Given the description of an element on the screen output the (x, y) to click on. 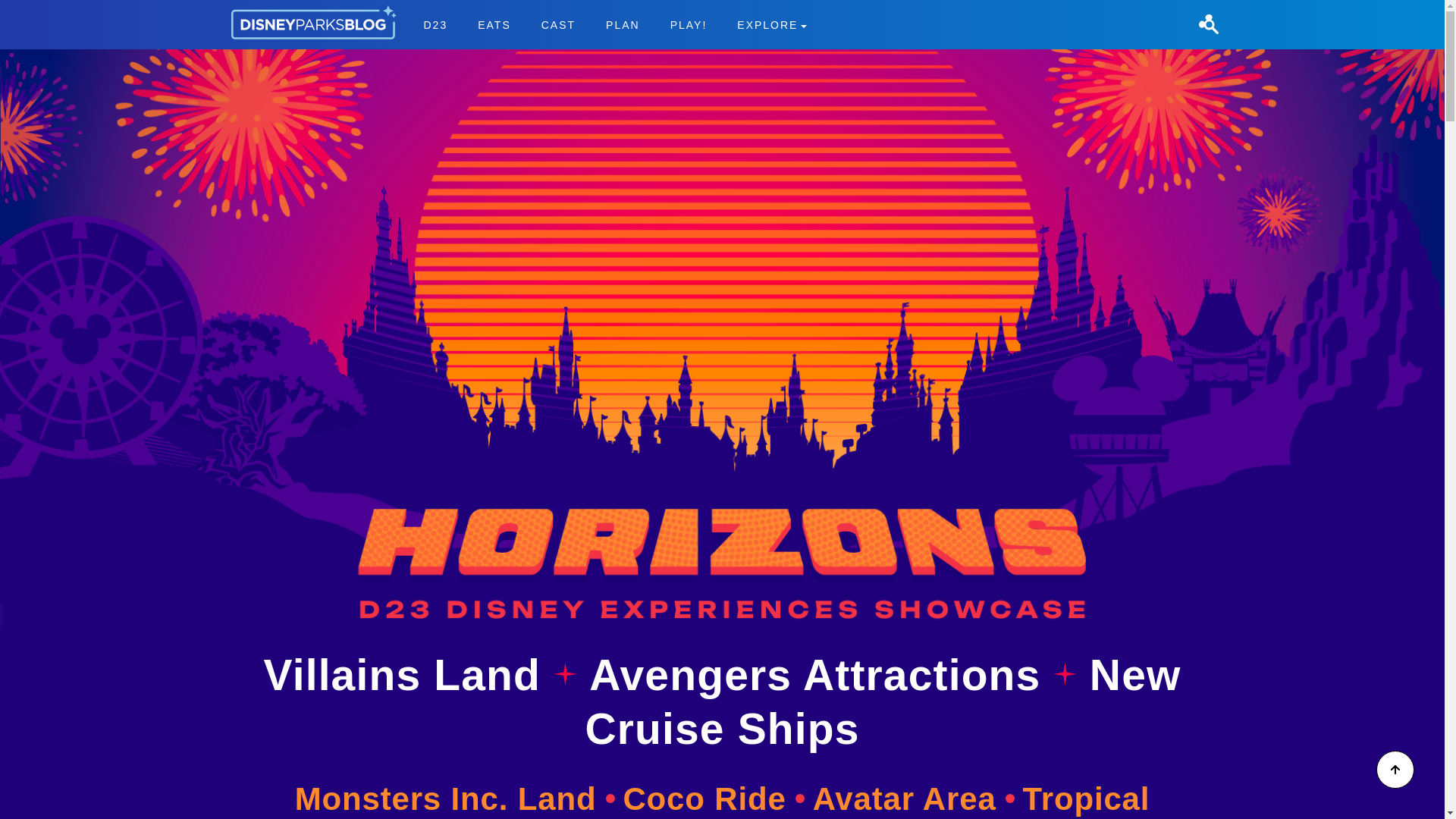
Monsters Inc. Land (454, 798)
CAST (558, 23)
Villains Land (408, 674)
New Cruise Ships (882, 701)
Skip to content (614, 23)
D23 (40, 8)
Tropical Americas (435, 23)
PLAY! (834, 800)
EATS (688, 23)
